Given the description of an element on the screen output the (x, y) to click on. 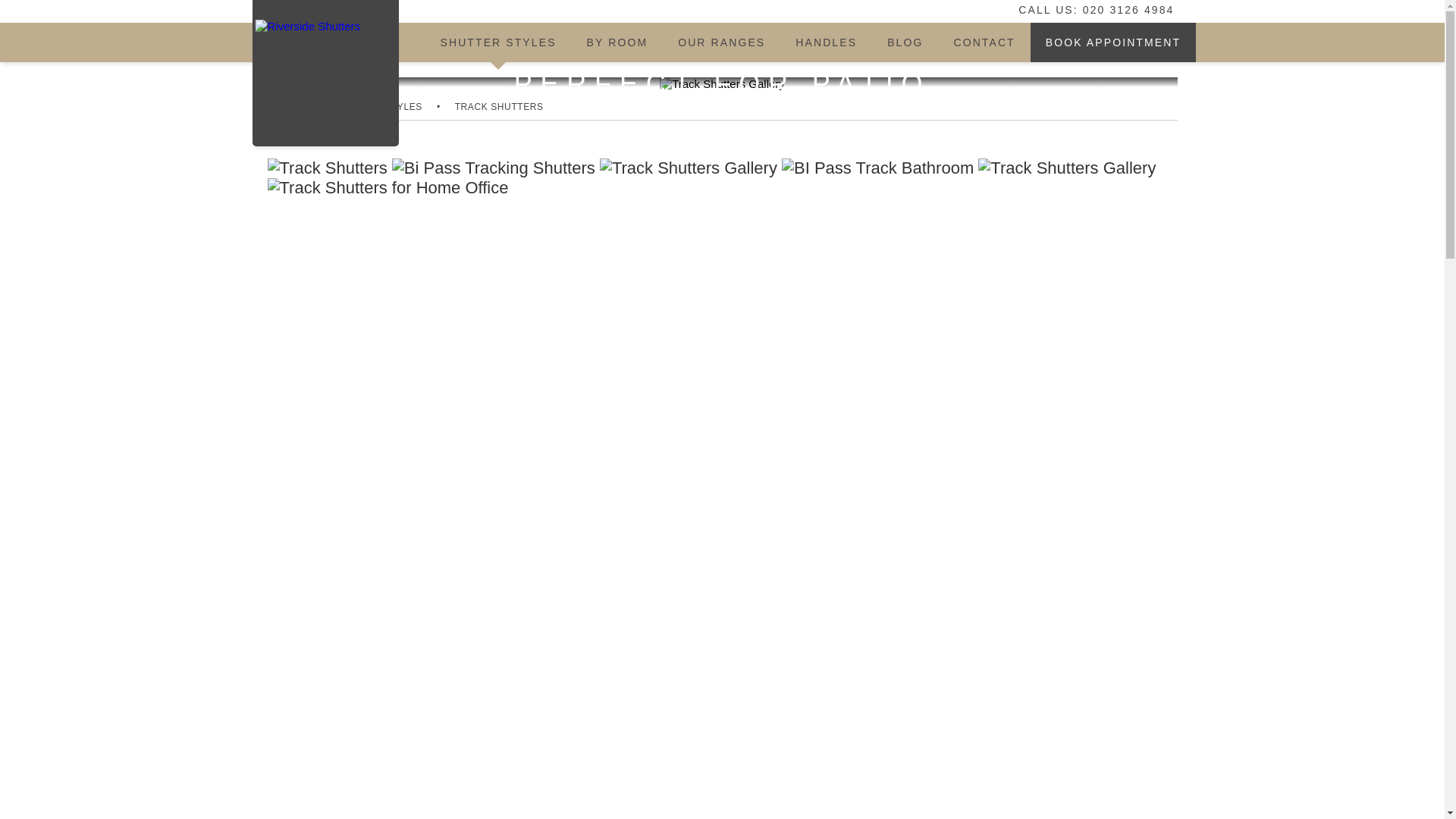
BOOK APPOINTMENT (1112, 42)
CONTACT (983, 42)
HANDLES (826, 42)
BY ROOM (617, 42)
SHUTTER STYLES (497, 42)
CALL US: 020 3126 4984 (1085, 9)
OUR RANGES (721, 42)
BLOG (904, 42)
